Given the description of an element on the screen output the (x, y) to click on. 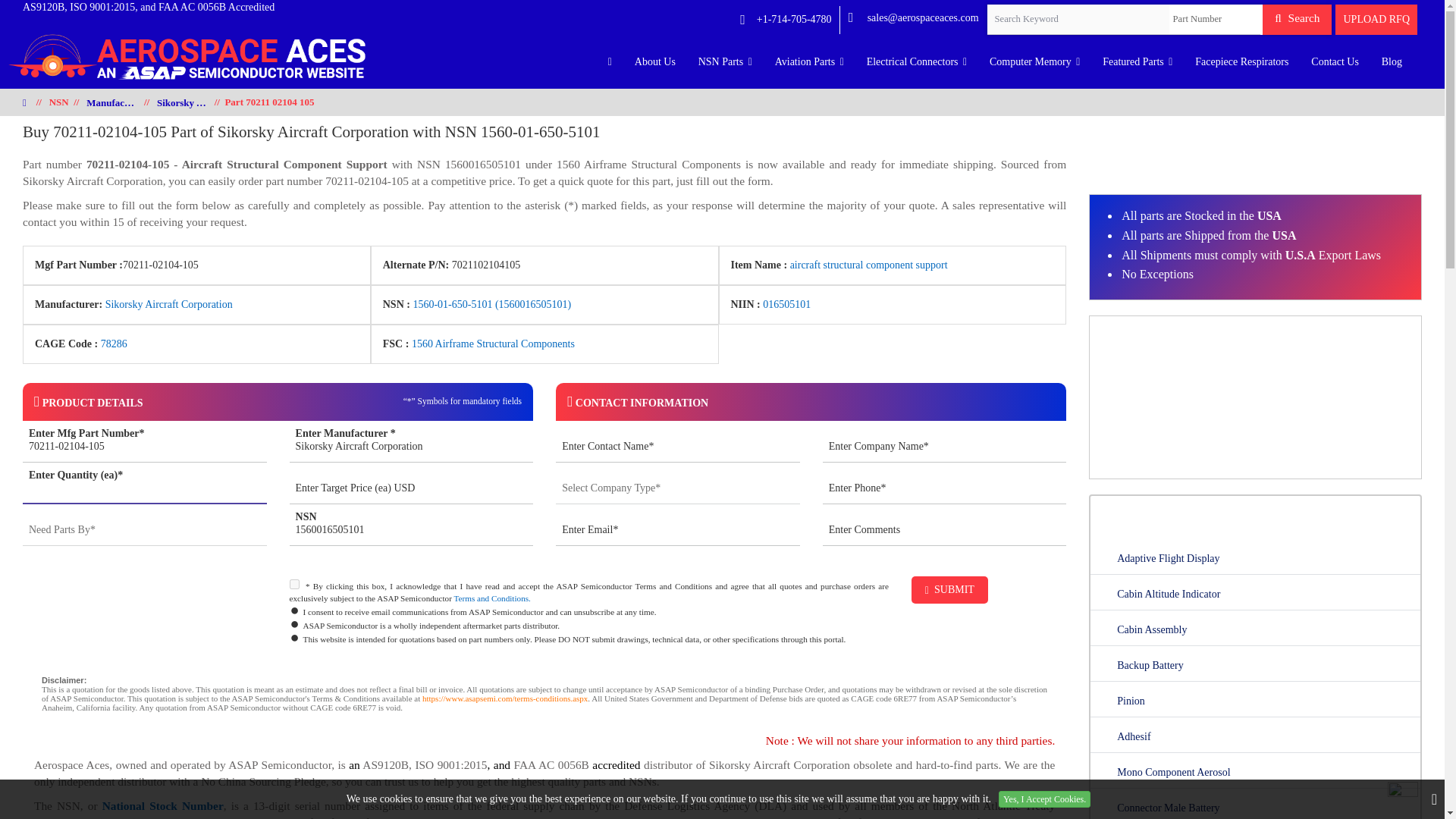
70211-02104-105 (144, 447)
Electrical Connectors (917, 62)
disclaimer (543, 698)
on (294, 583)
UPLOAD RFQ (1375, 19)
Computer Memory (1034, 62)
Sikorsky Aircraft Corporation (411, 447)
NSN Parts (724, 62)
Aviation Parts (809, 62)
1560016505101 (411, 530)
